Given the description of an element on the screen output the (x, y) to click on. 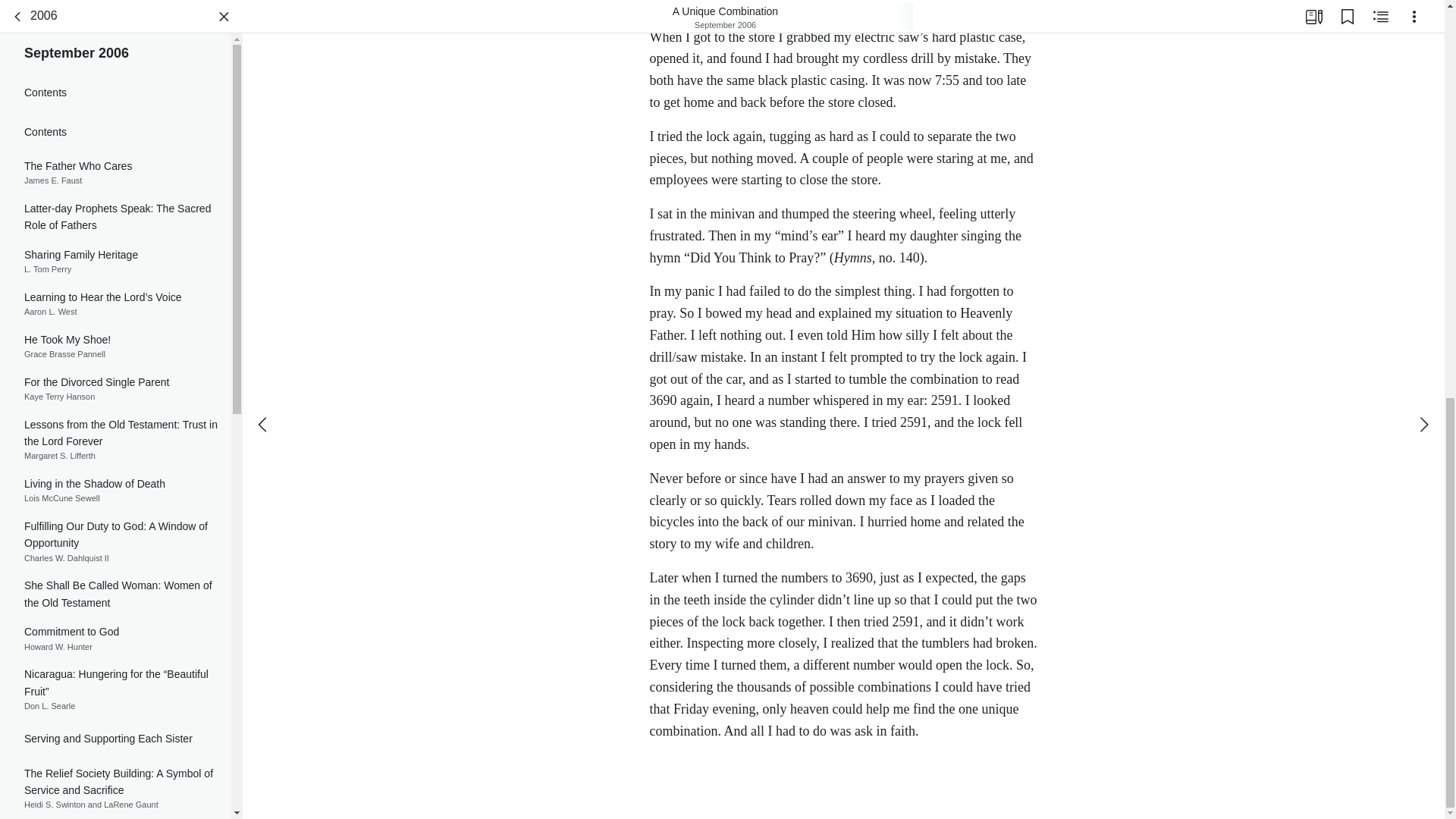
Church Satellite Broadcasts Available Online (115, 479)
Strengthening the Community (115, 742)
Unforgettable Family Home Evenings (115, 777)
President Hinckley Begins 96th Birthday Breaking Ground (115, 160)
Serving and Supporting Each Sister (115, 635)
